Given the description of an element on the screen output the (x, y) to click on. 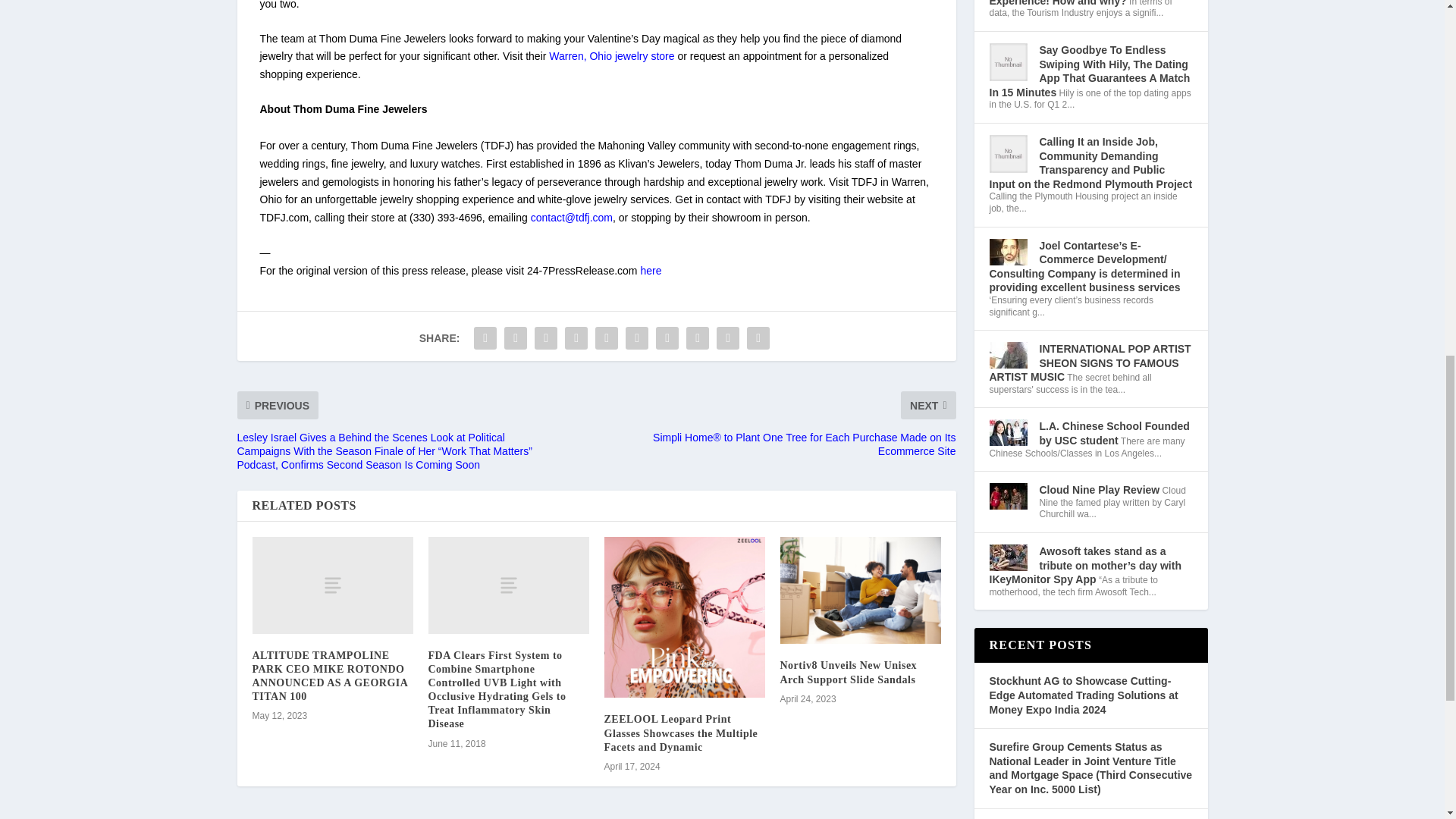
Warren, Ohio jewelry store (611, 55)
here (650, 270)
